Given the description of an element on the screen output the (x, y) to click on. 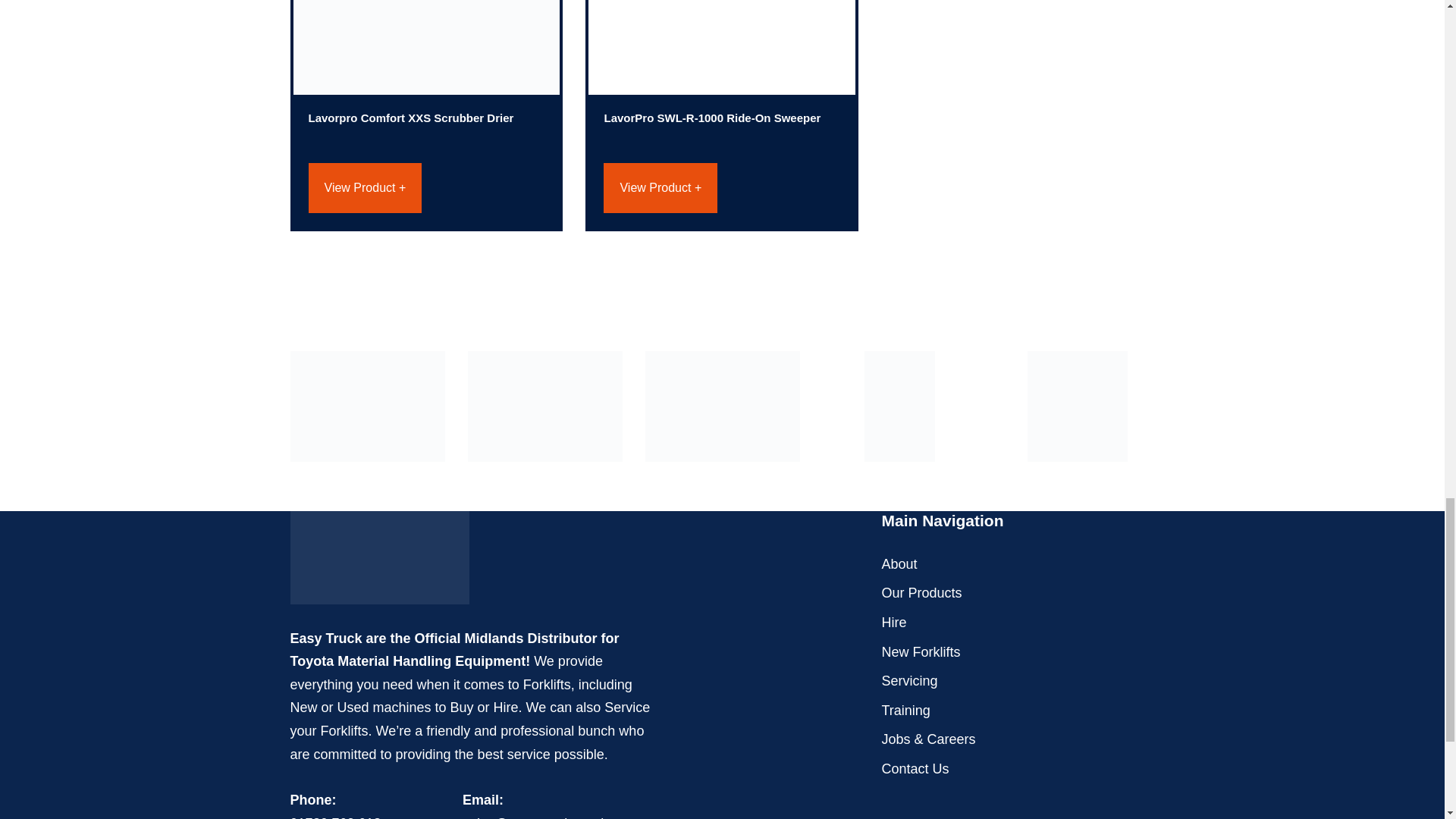
Industrial Cleaning Equipment 1 (425, 47)
Toyota-Material-Handling-Logo (366, 406)
Industrial Cleaning Equipment 2 (722, 47)
AITT-Logo (722, 406)
Bendi-Logo (544, 406)
